Given the description of an element on the screen output the (x, y) to click on. 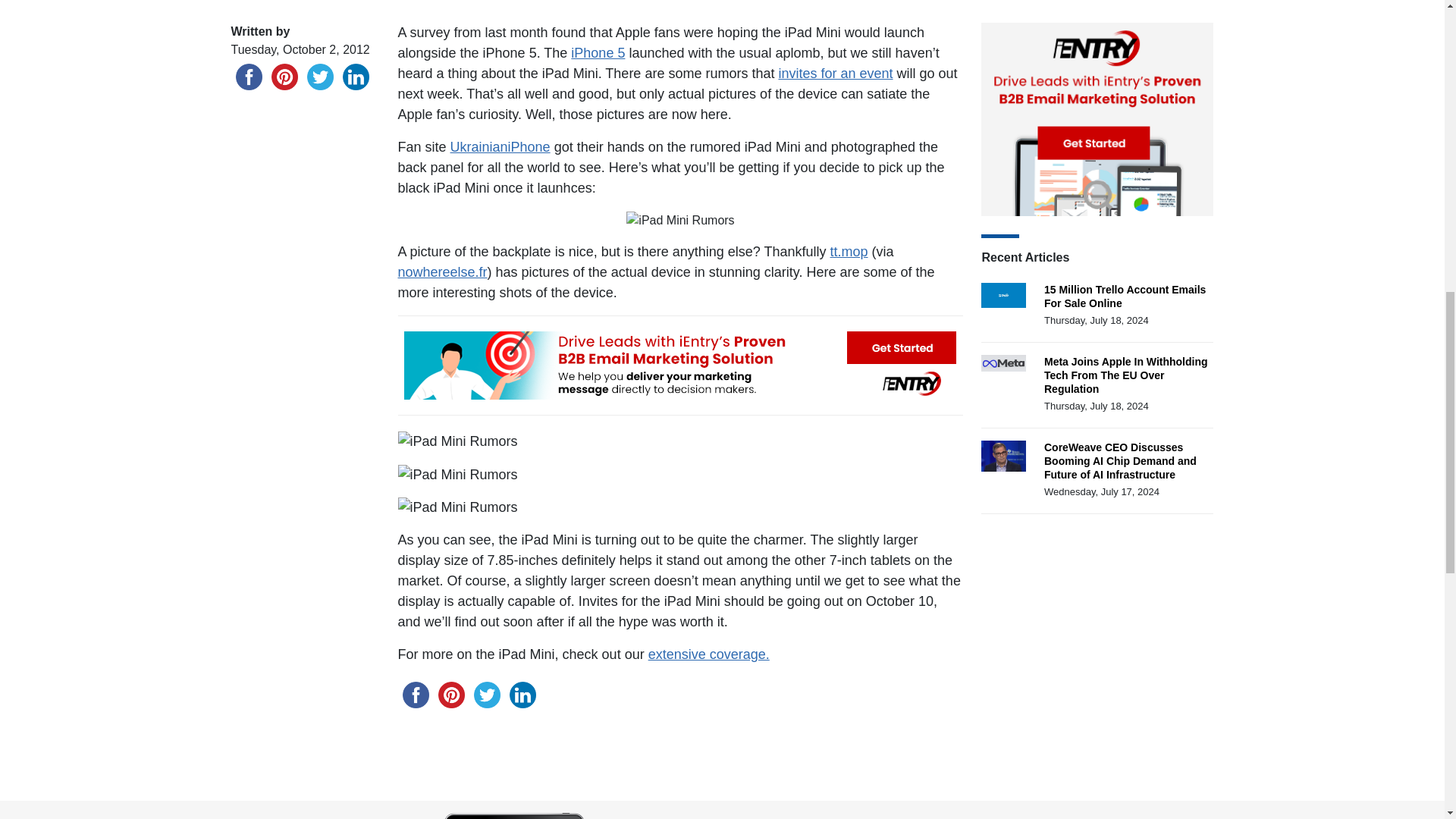
pinterest (450, 694)
facebook (248, 76)
linkedin (355, 76)
facebook (414, 694)
twitter (319, 76)
pinterest (284, 76)
twitter (485, 694)
